Given the description of an element on the screen output the (x, y) to click on. 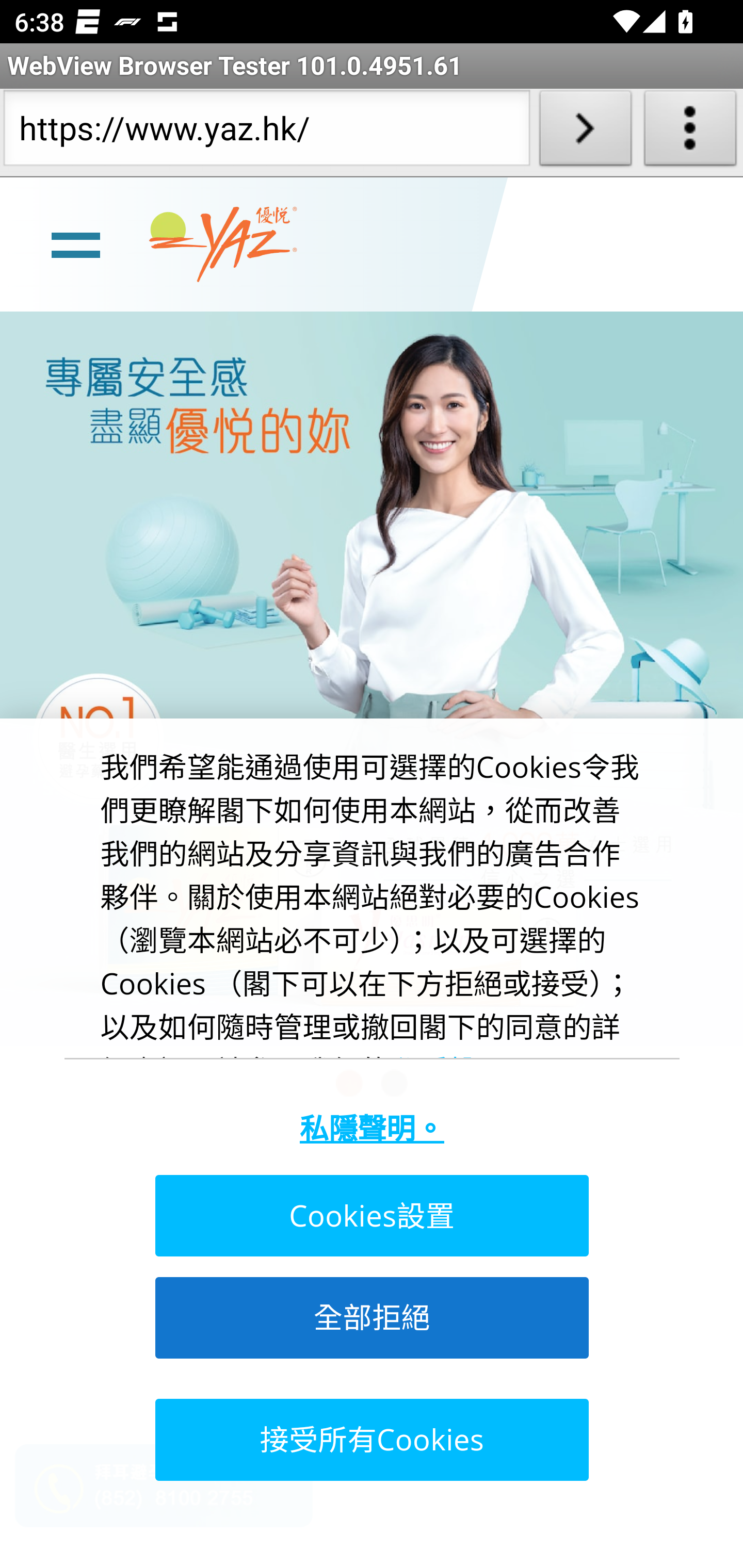
https://www.yaz.hk/ (266, 132)
Load URL (585, 132)
About WebView (690, 132)
www.yaz (222, 244)
line Toggle burger menu (75, 242)
slide 1 Alt tag Alt tag (371, 677)
slide 1 Alt tag Alt tag (371, 677)
Cookies設置 (370, 1215)
全部拒絕 (370, 1317)
接受所有Cookies (370, 1439)
